Given the description of an element on the screen output the (x, y) to click on. 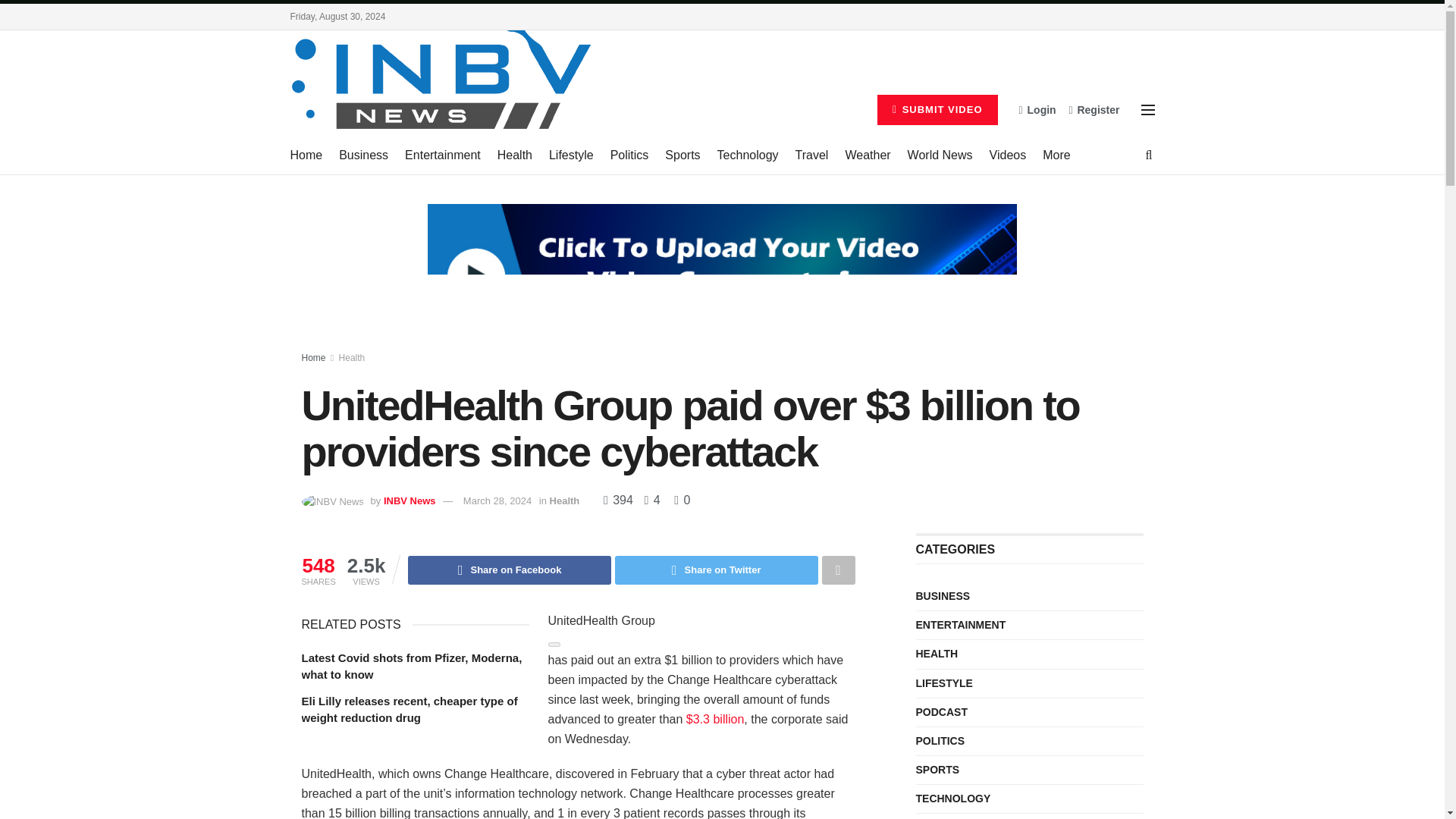
More (1056, 155)
Health (514, 155)
Weather (866, 155)
Entertainment (442, 155)
Videos (1008, 155)
Politics (629, 155)
Login (1038, 109)
World News (939, 155)
Technology (747, 155)
Business (363, 155)
